Given the description of an element on the screen output the (x, y) to click on. 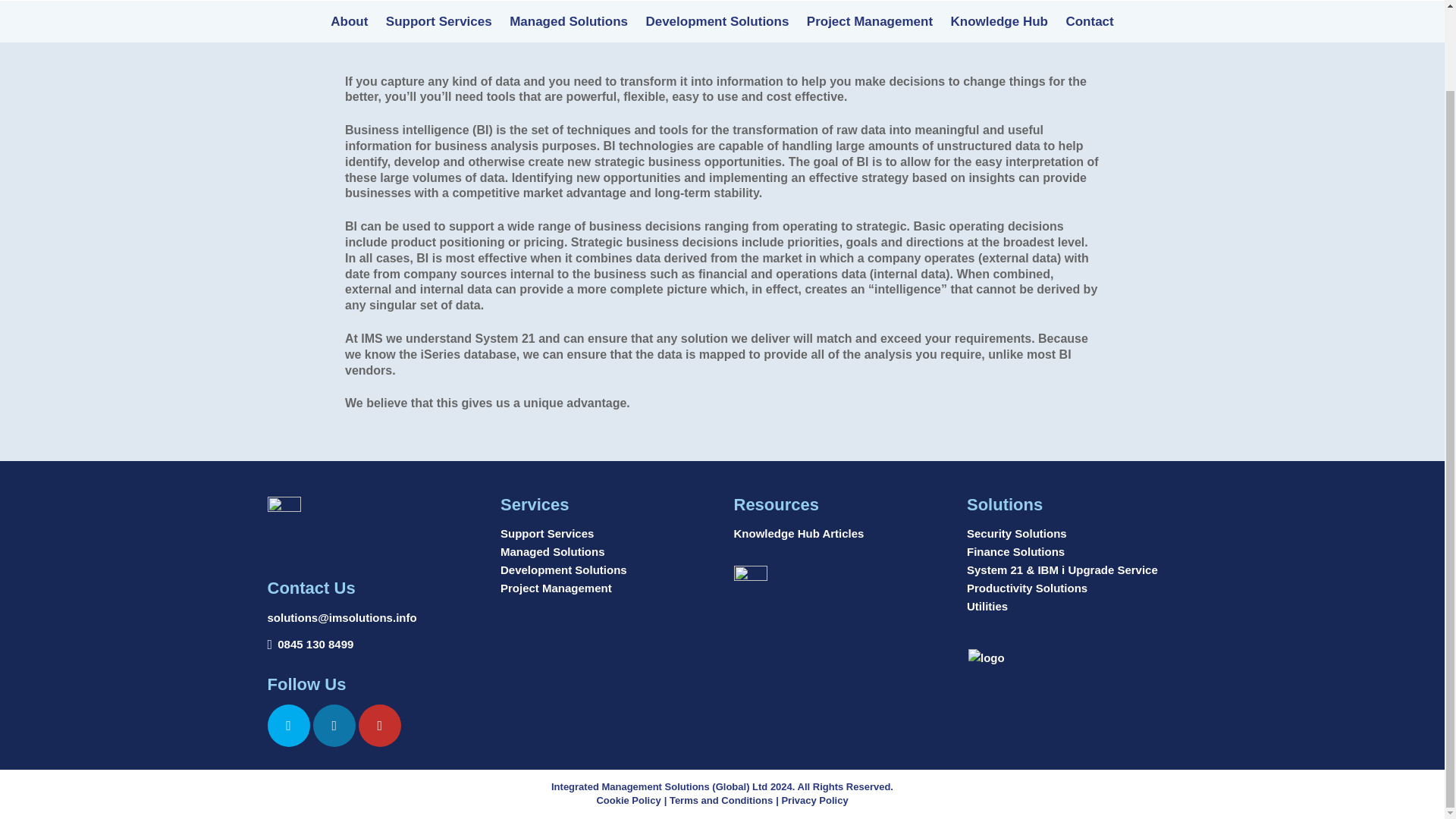
Project Management (869, 28)
About (349, 28)
Managed Solutions (568, 28)
IMS on LinkedIn (334, 725)
Development Solutions (717, 28)
Contact (1089, 28)
IMS on Youtube (379, 725)
Call IMS (315, 644)
0845 130 8499 (315, 644)
Knowledge Hub (999, 28)
IMS on Twitter (287, 725)
Email IMS (341, 618)
Support Services (438, 28)
